Given the description of an element on the screen output the (x, y) to click on. 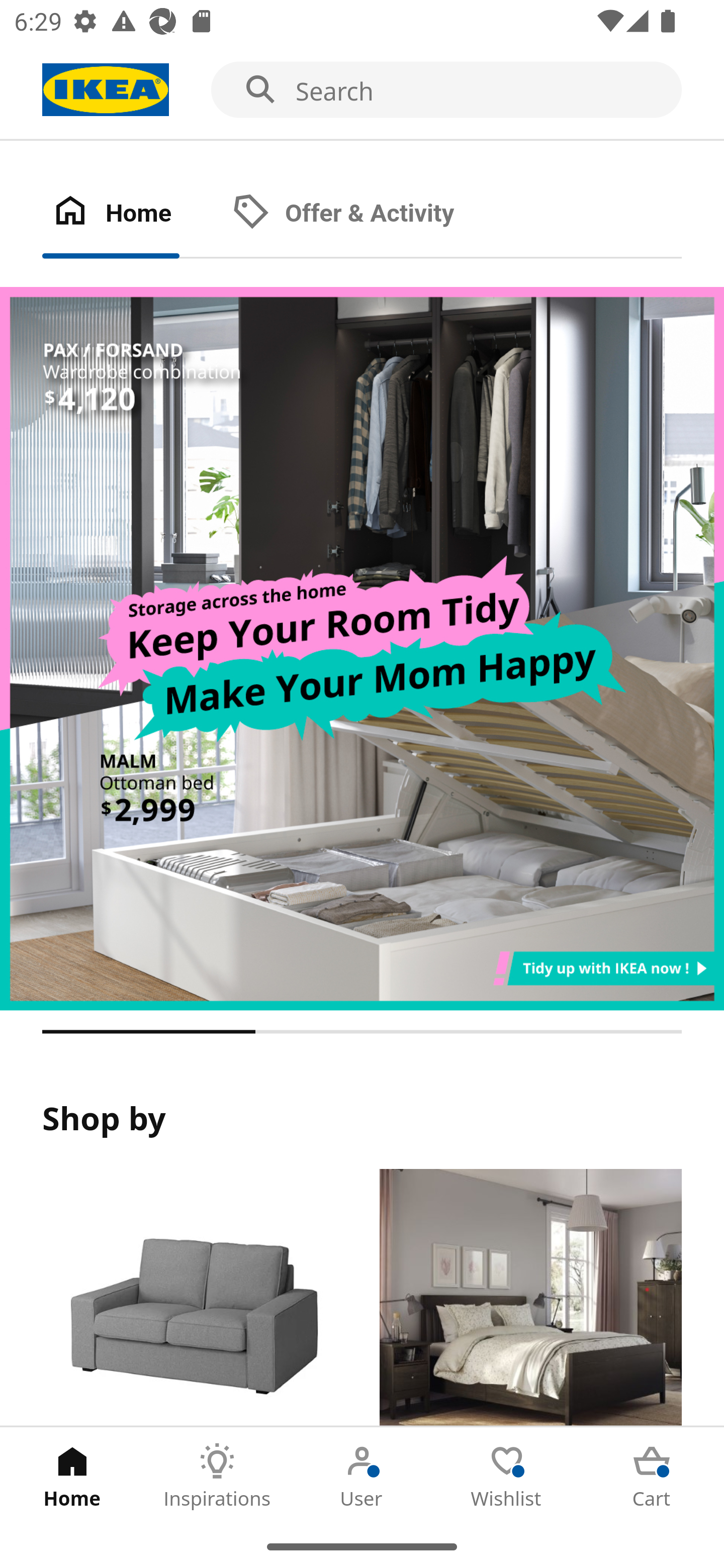
Search (361, 90)
Home
Tab 1 of 2 (131, 213)
Offer & Activity
Tab 2 of 2 (363, 213)
Products (192, 1297)
Rooms (530, 1297)
Home
Tab 1 of 5 (72, 1476)
Inspirations
Tab 2 of 5 (216, 1476)
User
Tab 3 of 5 (361, 1476)
Wishlist
Tab 4 of 5 (506, 1476)
Cart
Tab 5 of 5 (651, 1476)
